Given the description of an element on the screen output the (x, y) to click on. 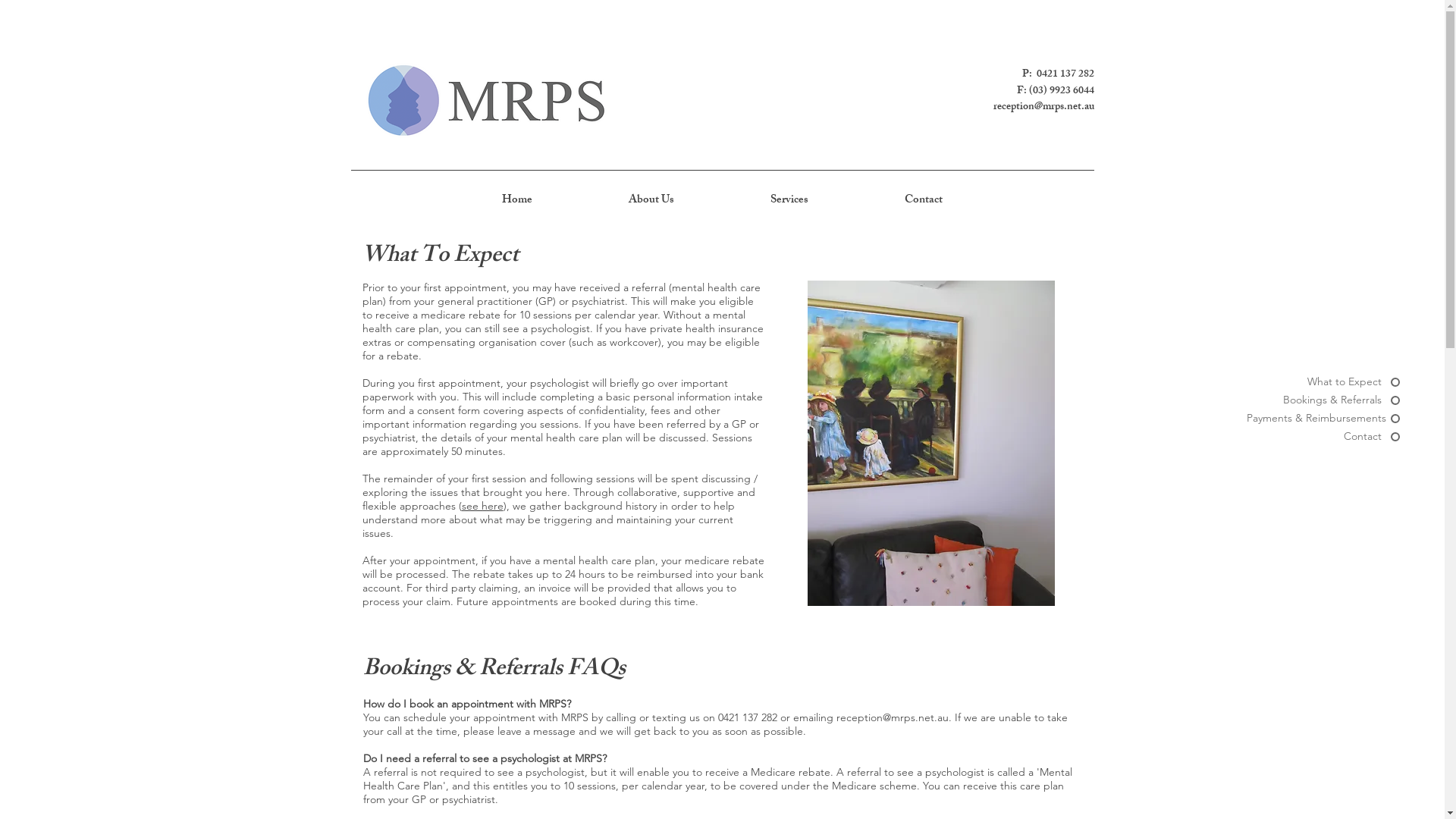
Home Element type: text (516, 200)
see here Element type: text (481, 505)
About Us Element type: text (651, 200)
Services Element type: text (788, 200)
Contact Element type: text (923, 200)
What to Expect Element type: text (1321, 381)
Payments & Reimbursements Element type: text (1321, 418)
reception@mrps.net.au Element type: text (1043, 106)
reception@mrps.net.au Element type: text (891, 717)
Contact Element type: text (1321, 436)
Bookings & Referrals Element type: text (1321, 399)
